Given the description of an element on the screen output the (x, y) to click on. 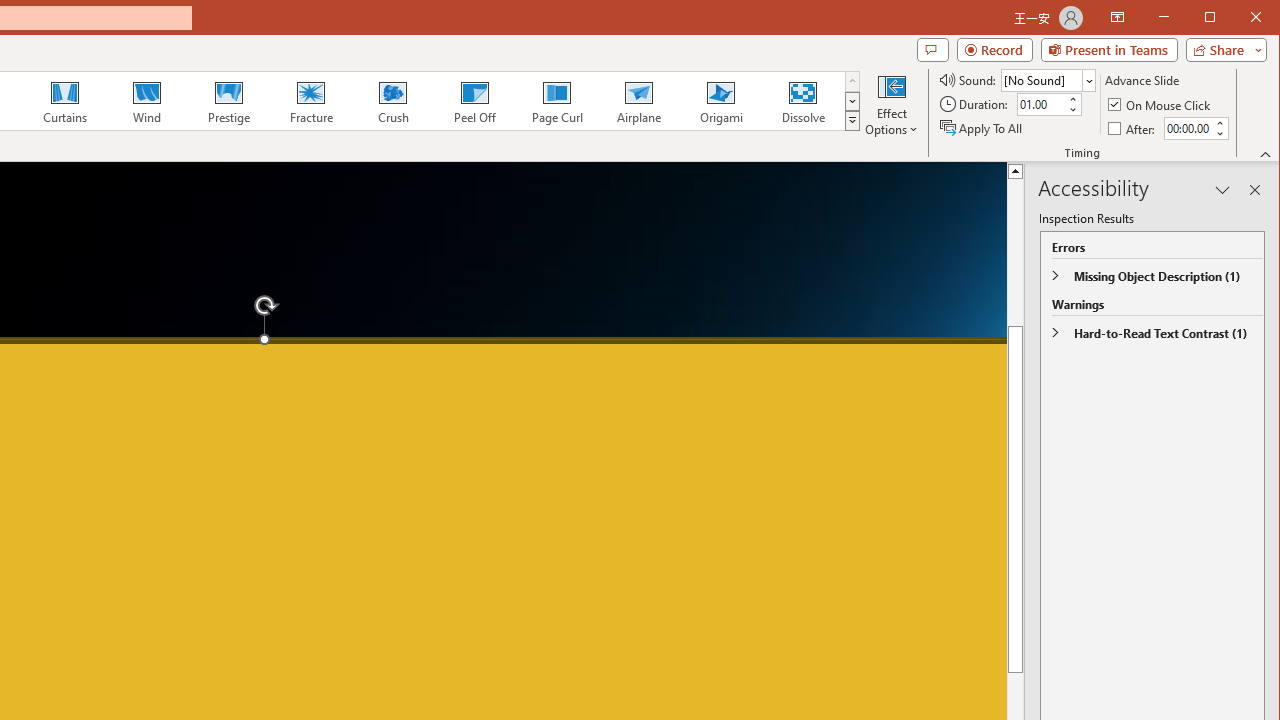
Less (1218, 133)
Peel Off (474, 100)
Fracture (311, 100)
Duration (1040, 104)
Prestige (229, 100)
Airplane (638, 100)
